Given the description of an element on the screen output the (x, y) to click on. 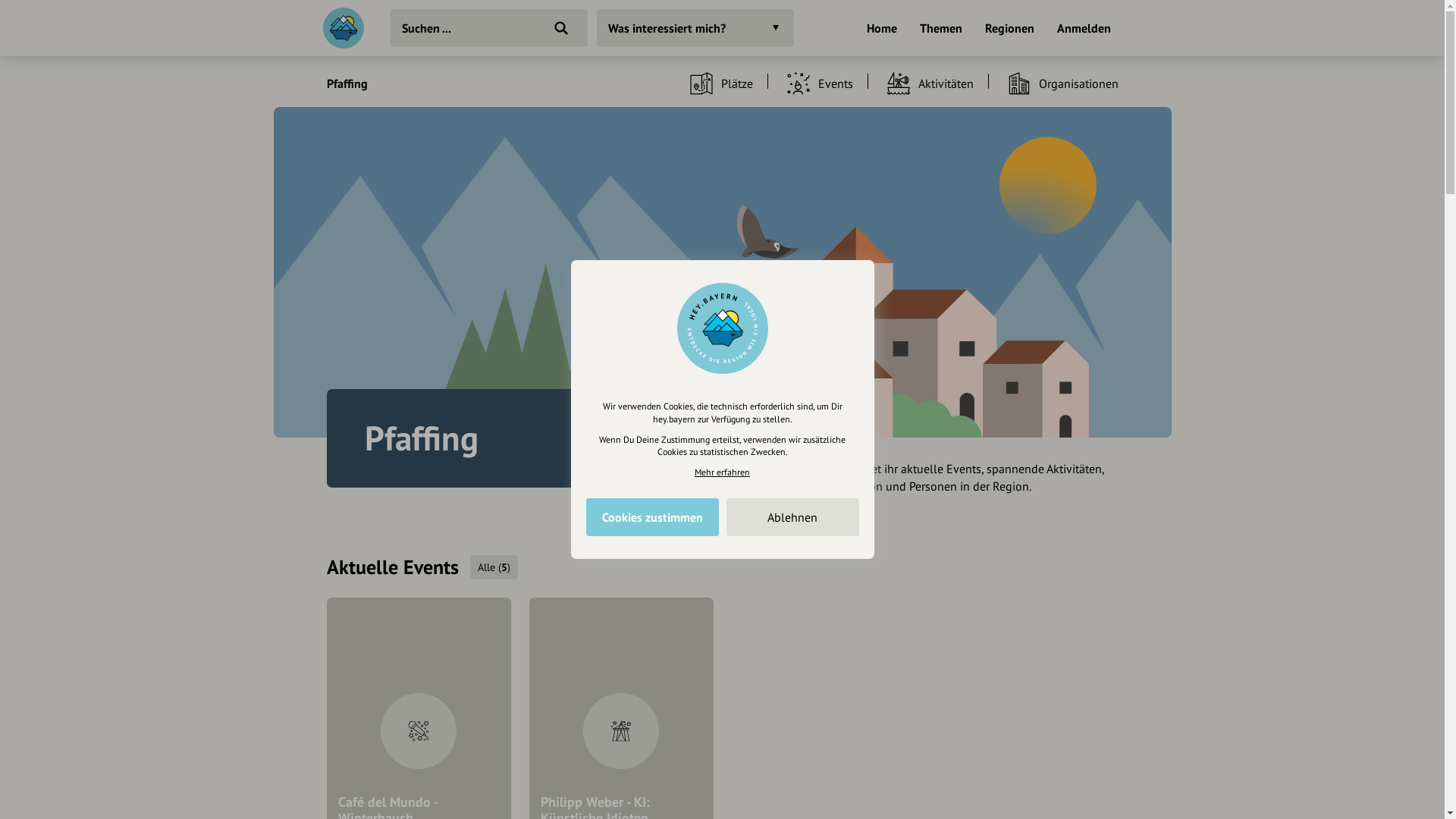
Pfaffing Element type: text (346, 83)
Regionen Element type: text (1008, 29)
Ablehnen Element type: text (792, 517)
Themen Element type: text (940, 29)
Mehr erfahren Element type: text (721, 471)
Organisationen Element type: text (1054, 83)
Events Element type: text (811, 83)
Alle (5) Element type: text (493, 567)
Home Element type: text (881, 29)
Cookies zustimmen Element type: text (651, 517)
Anmelden Element type: text (1083, 29)
Was interessiert mich? Element type: text (694, 28)
